Given the description of an element on the screen output the (x, y) to click on. 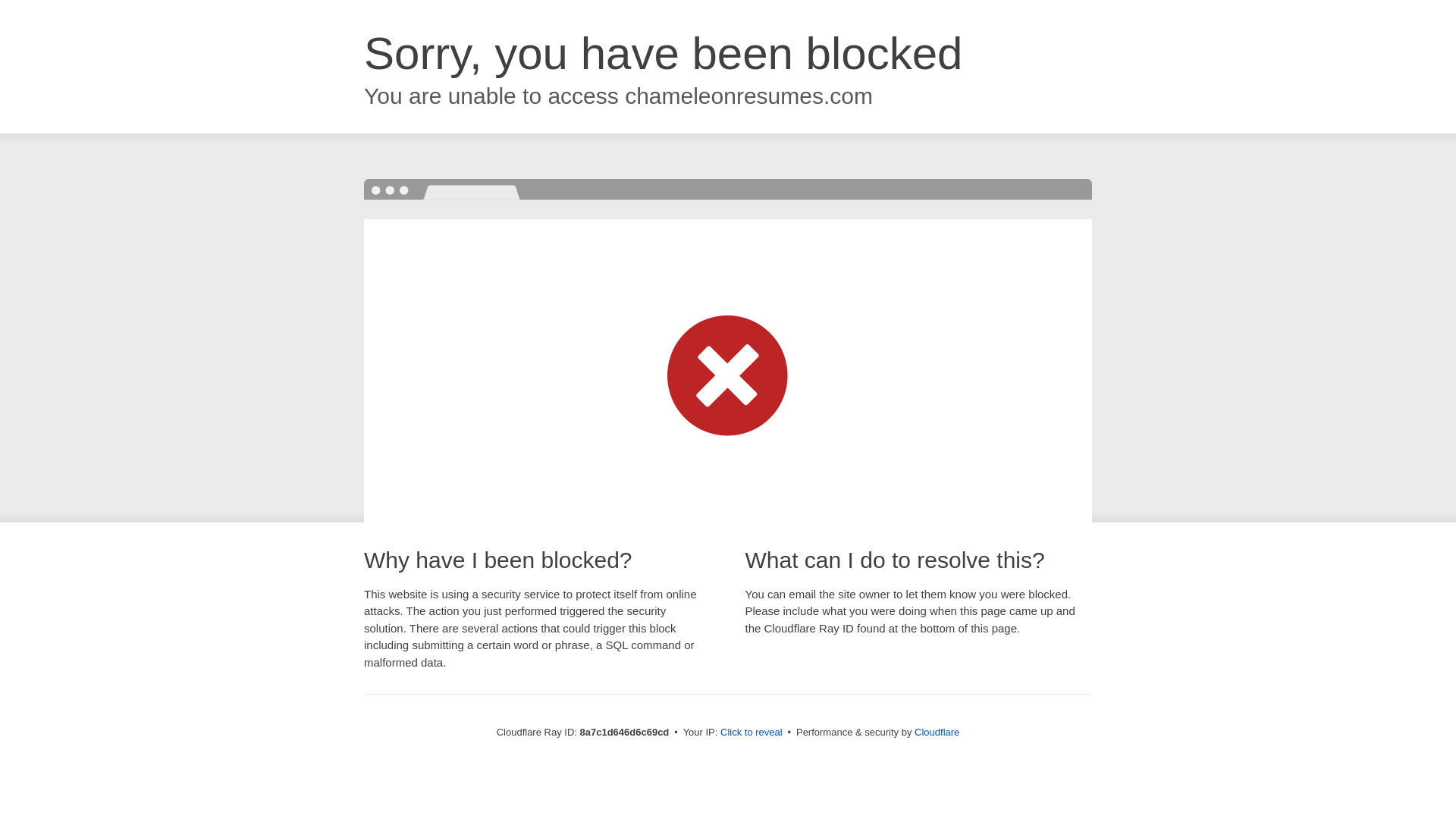
Click to reveal (751, 732)
Cloudflare (936, 731)
